Given the description of an element on the screen output the (x, y) to click on. 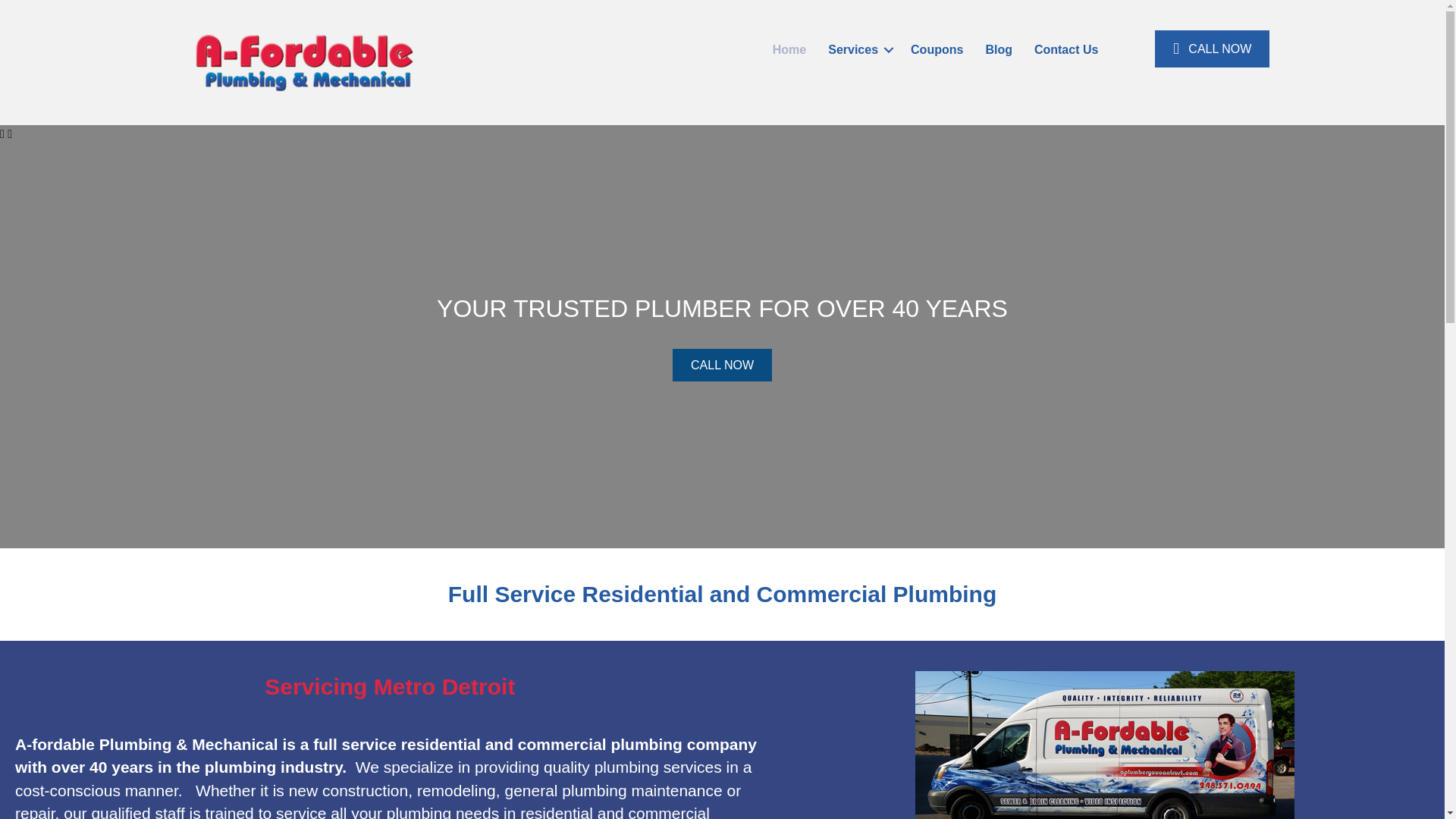
Contact Us (1065, 49)
Home (788, 49)
a-fordable plumbing logo1 (302, 62)
CALL NOW (721, 364)
Blog (998, 49)
CALL NOW (1211, 48)
a-fordable plumbing truck (1104, 744)
Coupons (936, 49)
Services (857, 49)
